Given the description of an element on the screen output the (x, y) to click on. 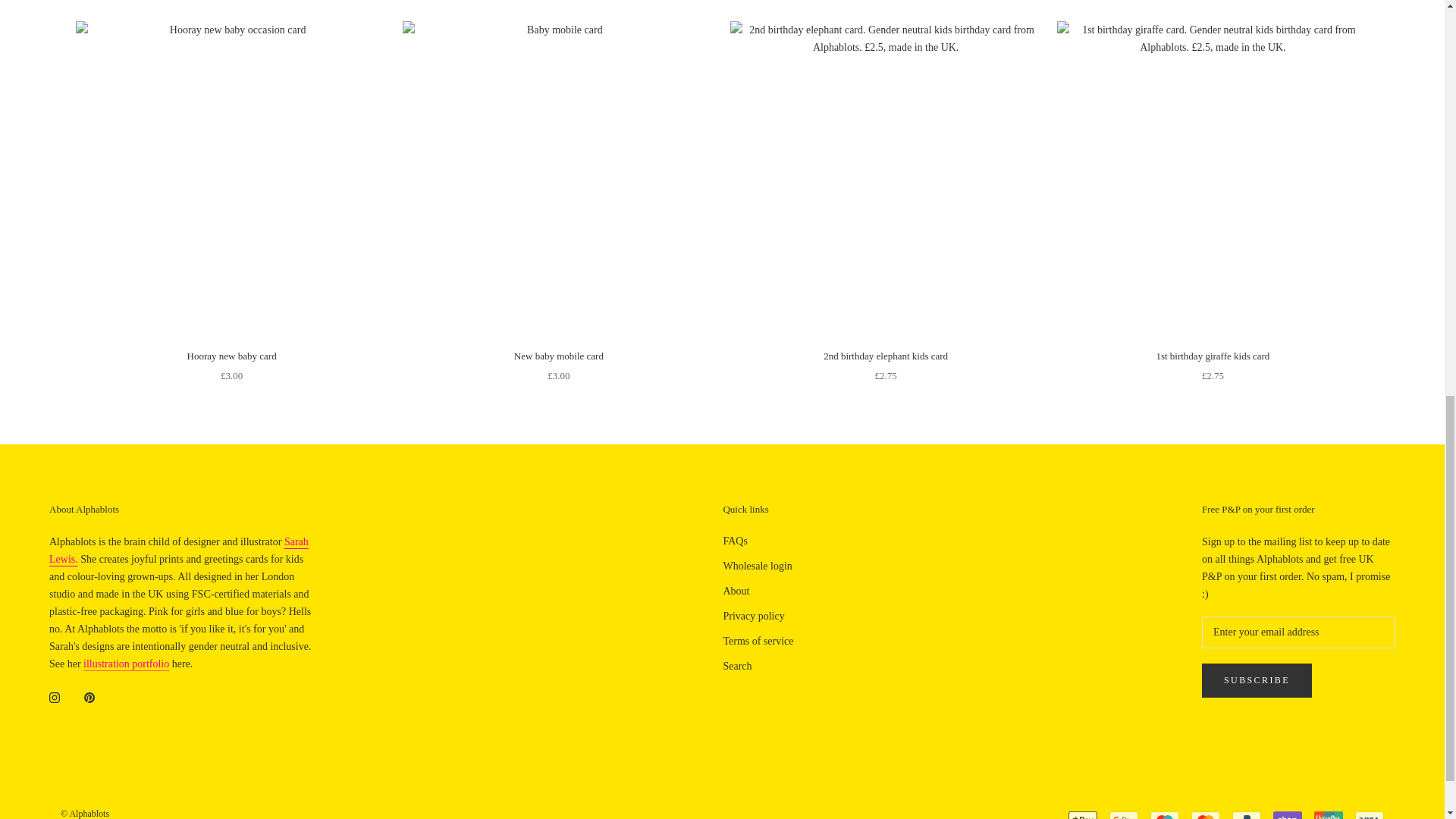
Apple Pay (1082, 815)
Union Pay (1328, 815)
sarah lewis (178, 550)
Mastercard (1205, 815)
Shop Pay (1286, 815)
Google Pay (1123, 815)
Maestro (1164, 815)
PayPal (1245, 815)
